Given the description of an element on the screen output the (x, y) to click on. 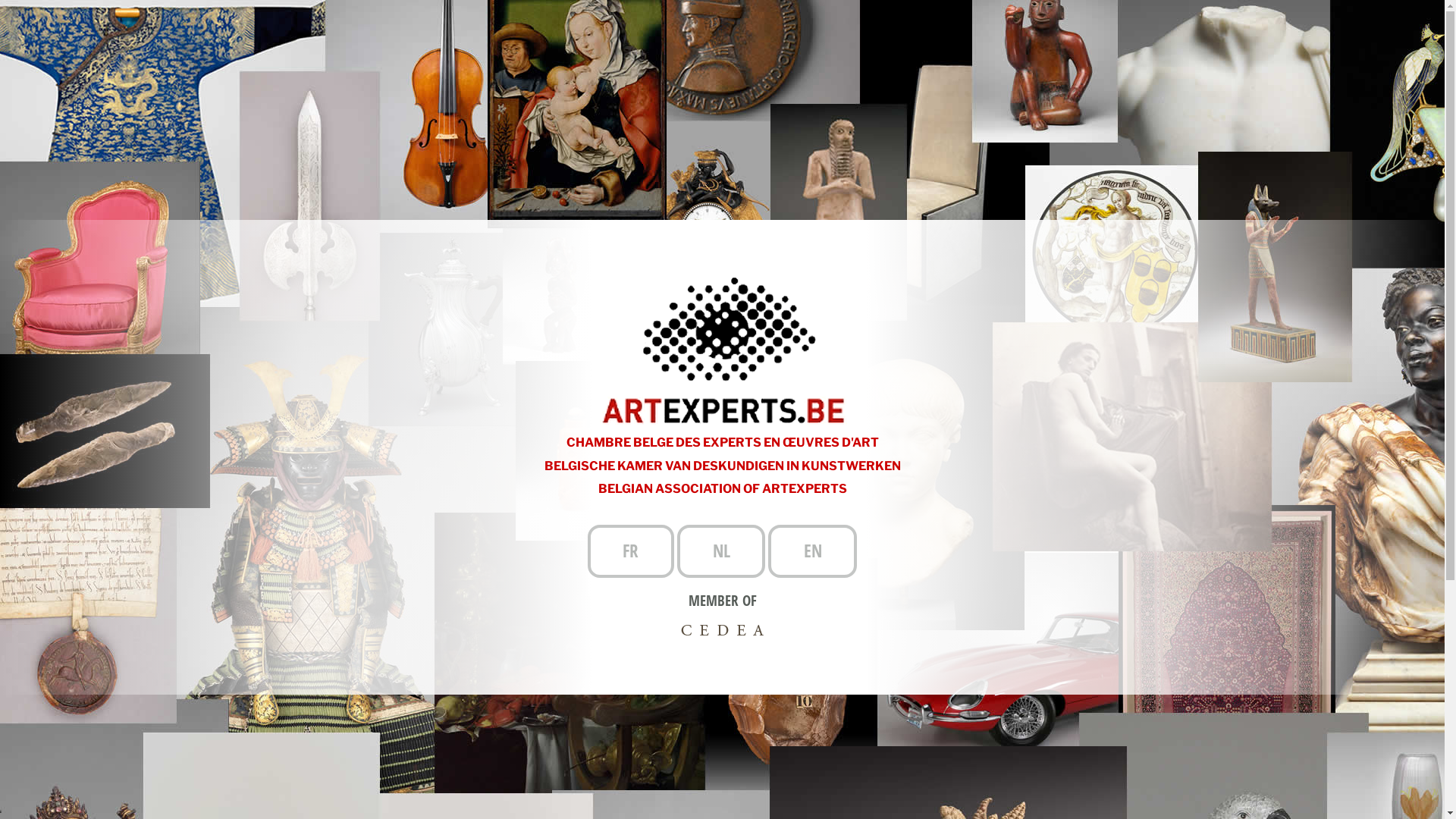
NL Element type: text (721, 550)
EN Element type: text (812, 550)
FR Element type: text (630, 550)
